Given the description of an element on the screen output the (x, y) to click on. 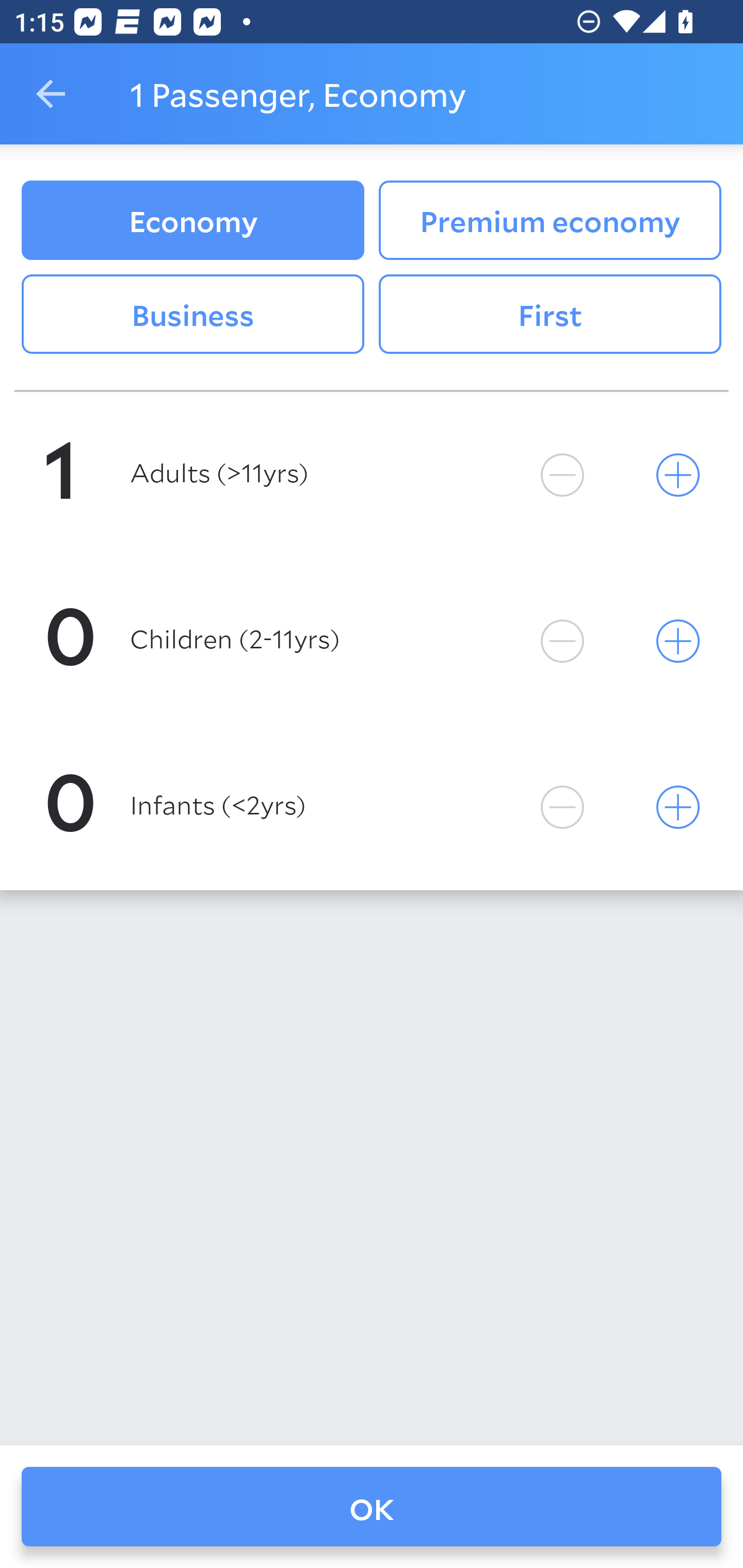
Navigate up (50, 93)
Economy (192, 220)
Premium economy (549, 220)
Business (192, 314)
First (549, 314)
OK (371, 1506)
